Given the description of an element on the screen output the (x, y) to click on. 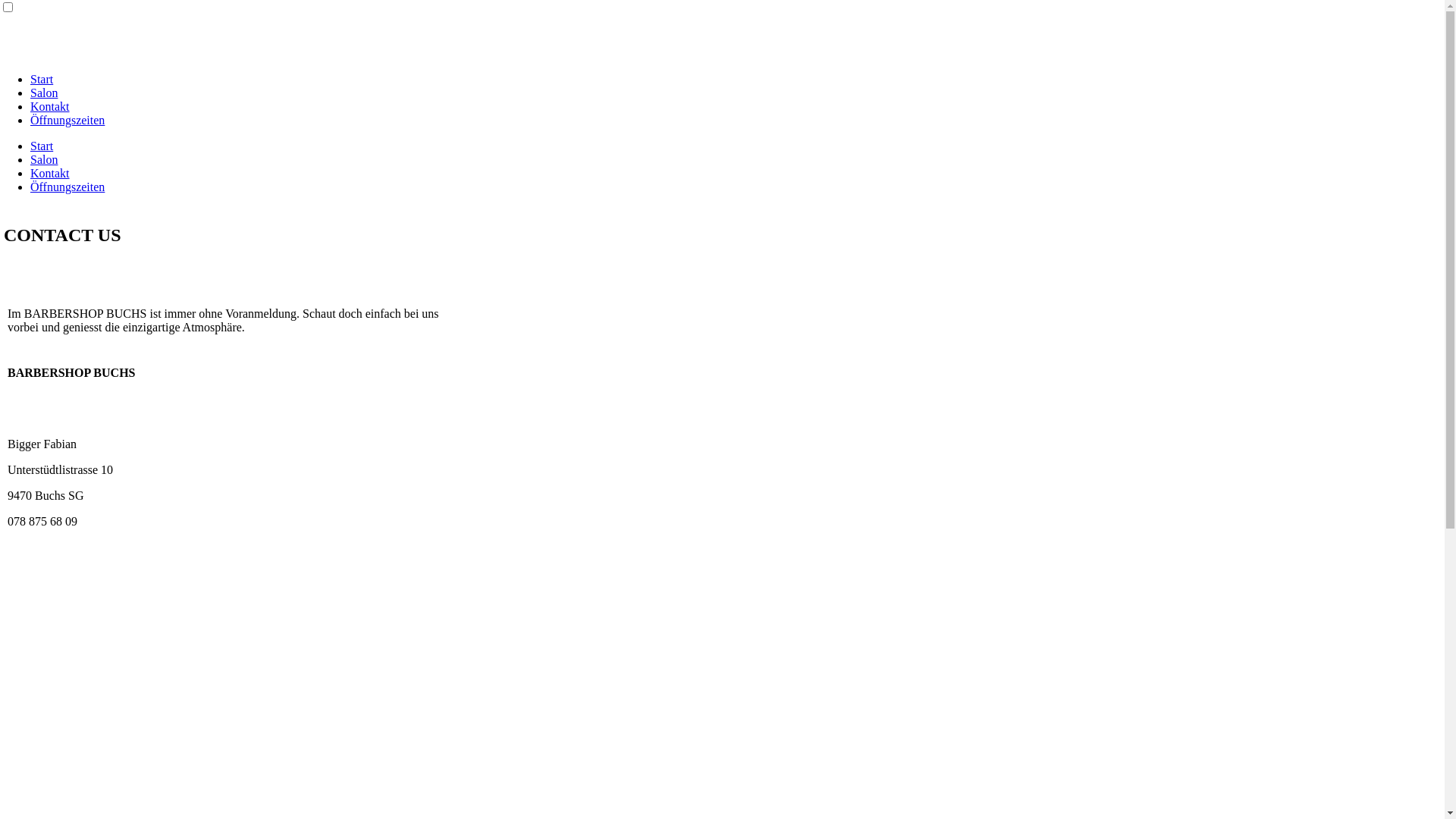
Kontakt Element type: text (49, 106)
Salon Element type: text (43, 159)
Start Element type: text (41, 78)
Start Element type: text (41, 145)
Salon Element type: text (43, 92)
Kontakt Element type: text (49, 172)
